Given the description of an element on the screen output the (x, y) to click on. 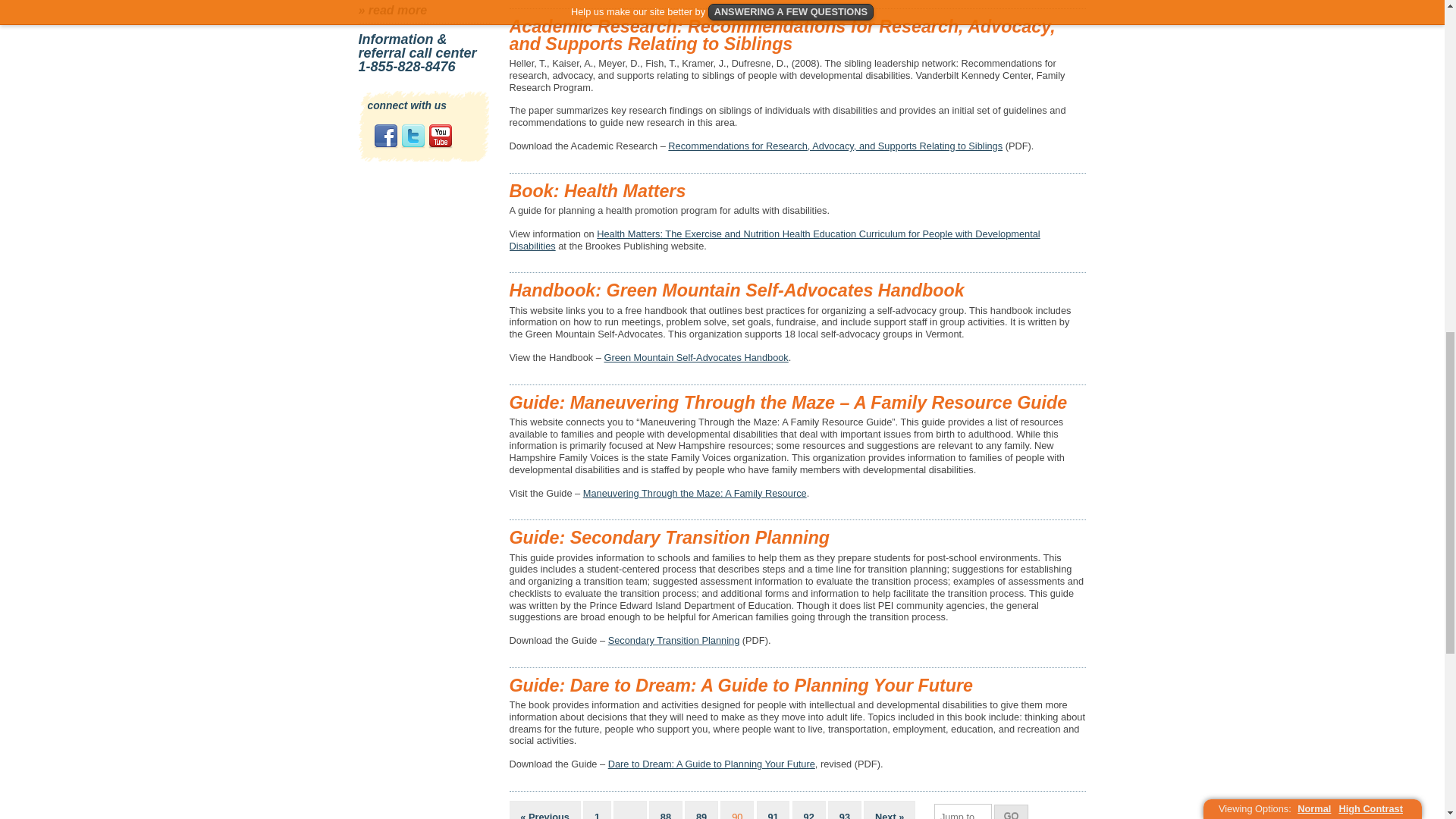
Go (1010, 811)
